Given the description of an element on the screen output the (x, y) to click on. 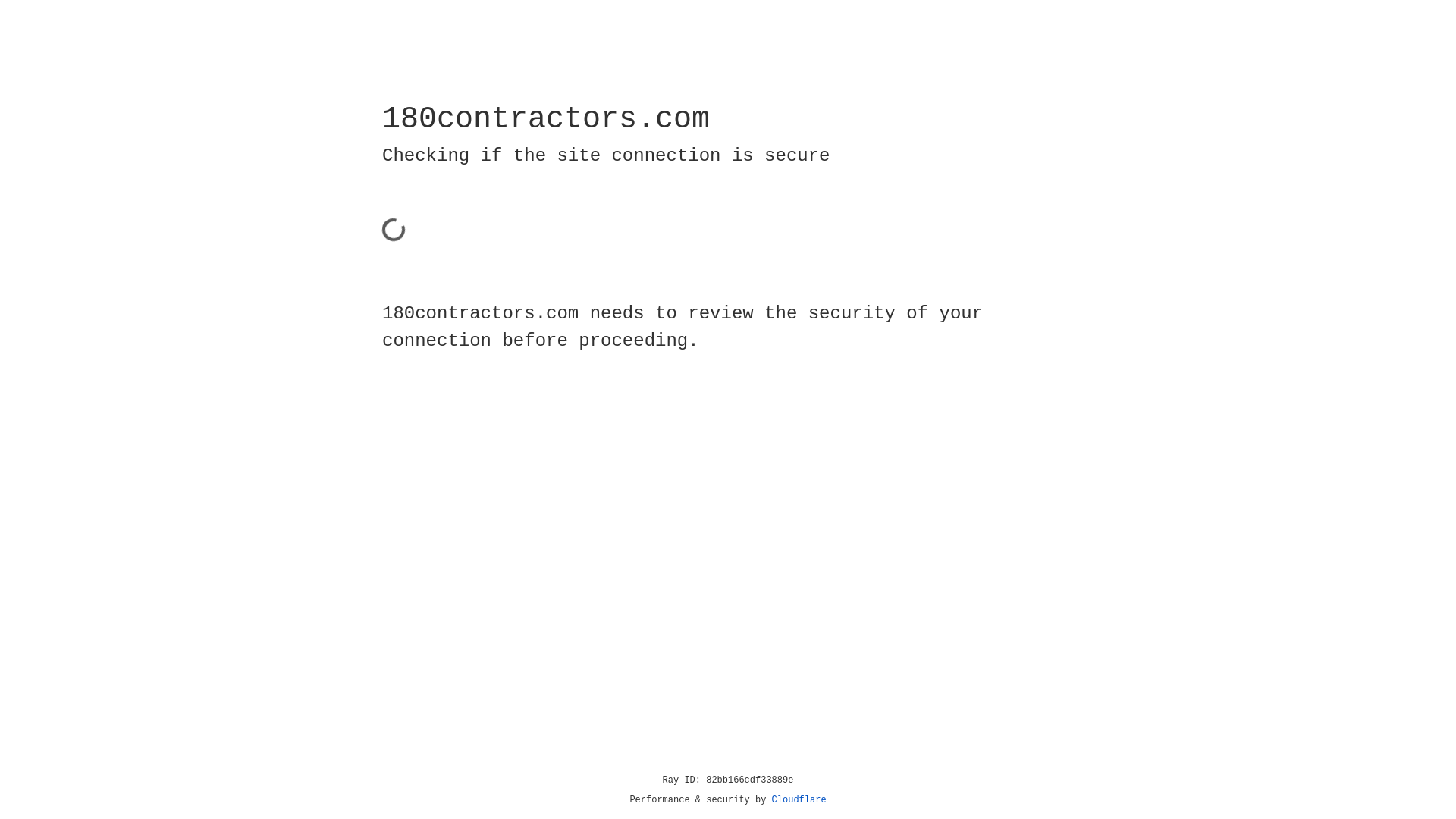
Cloudflare Element type: text (798, 799)
